Given the description of an element on the screen output the (x, y) to click on. 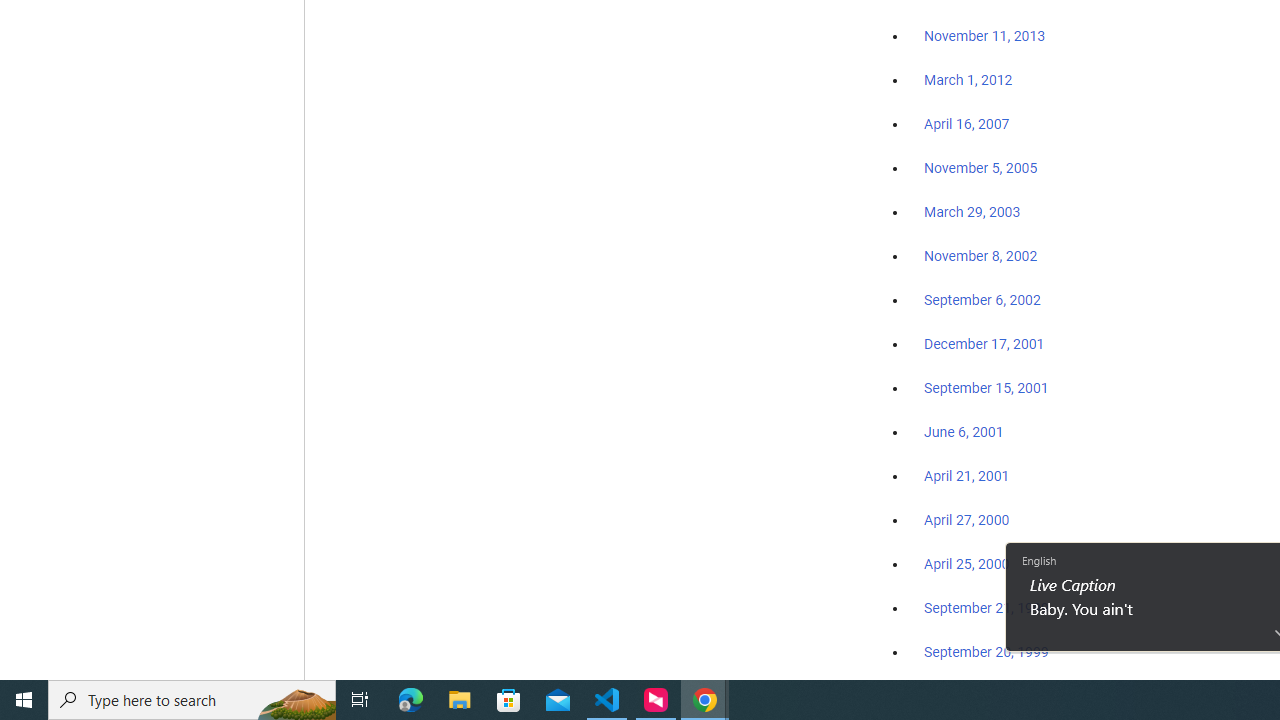
June 6, 2001 (963, 431)
Microsoft Store (509, 699)
April 16, 2007 (966, 124)
December 17, 2001 (984, 343)
April 27, 2000 (966, 520)
November 5, 2005 (981, 168)
Task View (359, 699)
Visual Studio Code - 1 running window (607, 699)
November 8, 2002 (981, 255)
April 21, 2001 (966, 476)
September 15, 2001 (986, 387)
Type here to search (191, 699)
Search highlights icon opens search home window (295, 699)
November 11, 2013 (984, 37)
